Given the description of an element on the screen output the (x, y) to click on. 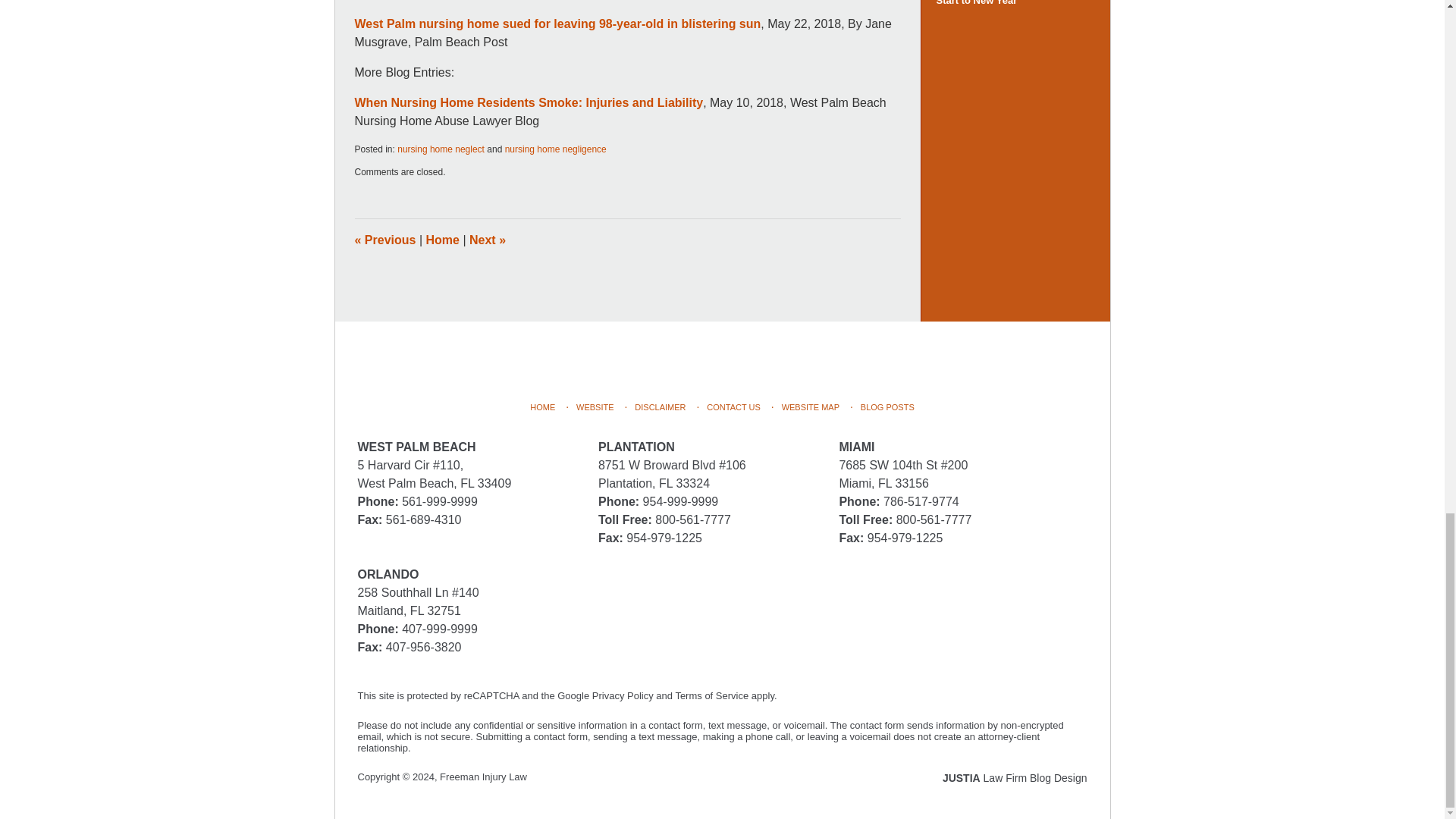
nursing home neglect (440, 149)
View all posts in nursing home negligence (556, 149)
nursing home negligence (556, 149)
Home (443, 239)
When Nursing Home Residents Smoke: Injuries and Liability (529, 102)
View all posts in nursing home neglect (440, 149)
